Given the description of an element on the screen output the (x, y) to click on. 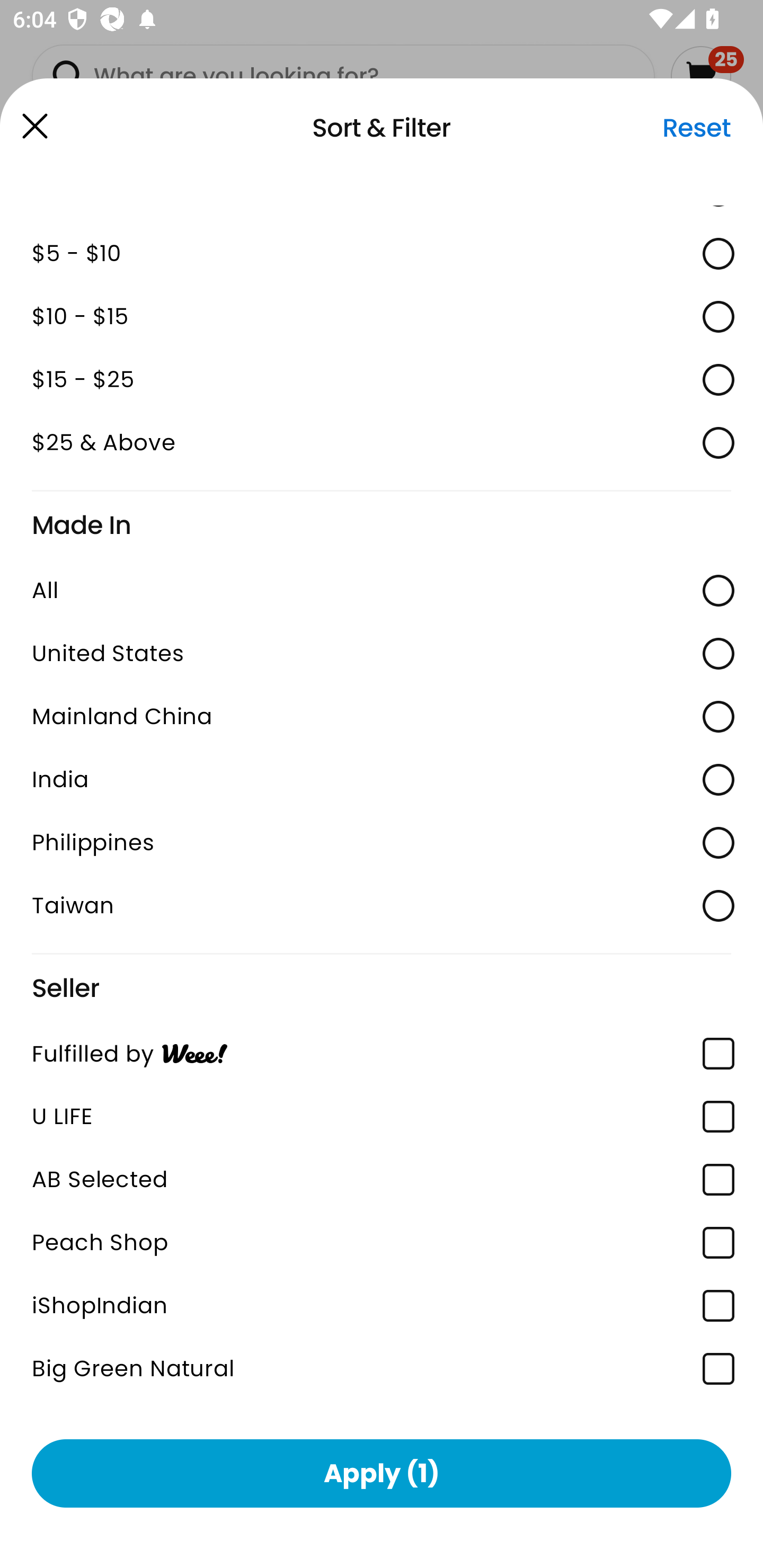
Reset (696, 127)
Apply (1) (381, 1472)
